Given the description of an element on the screen output the (x, y) to click on. 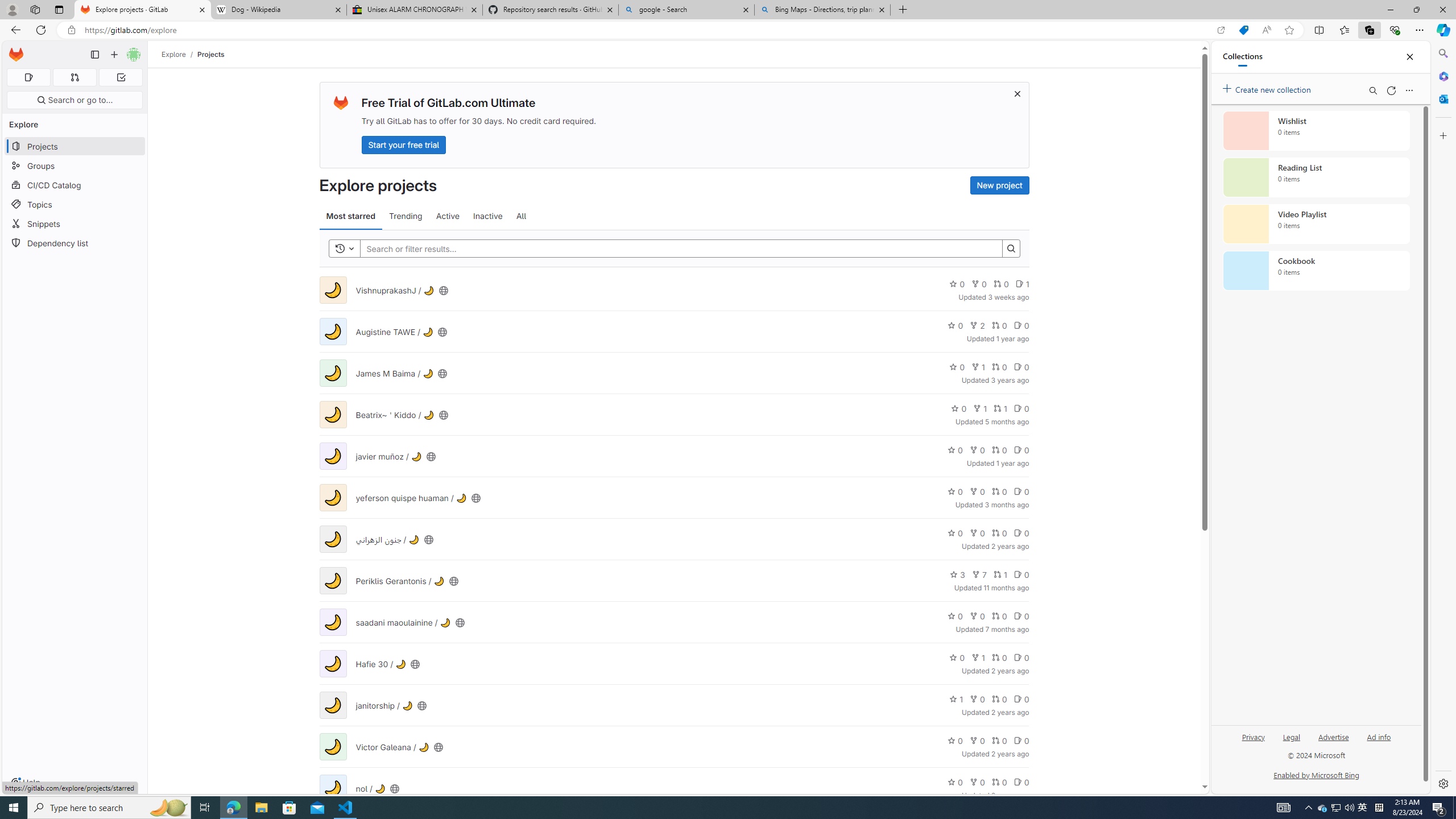
Snippets (74, 223)
Ad info (1378, 736)
Legal (1291, 736)
7 (979, 574)
Dependency list (74, 242)
Groups (74, 165)
Create new... (113, 54)
